Given the description of an element on the screen output the (x, y) to click on. 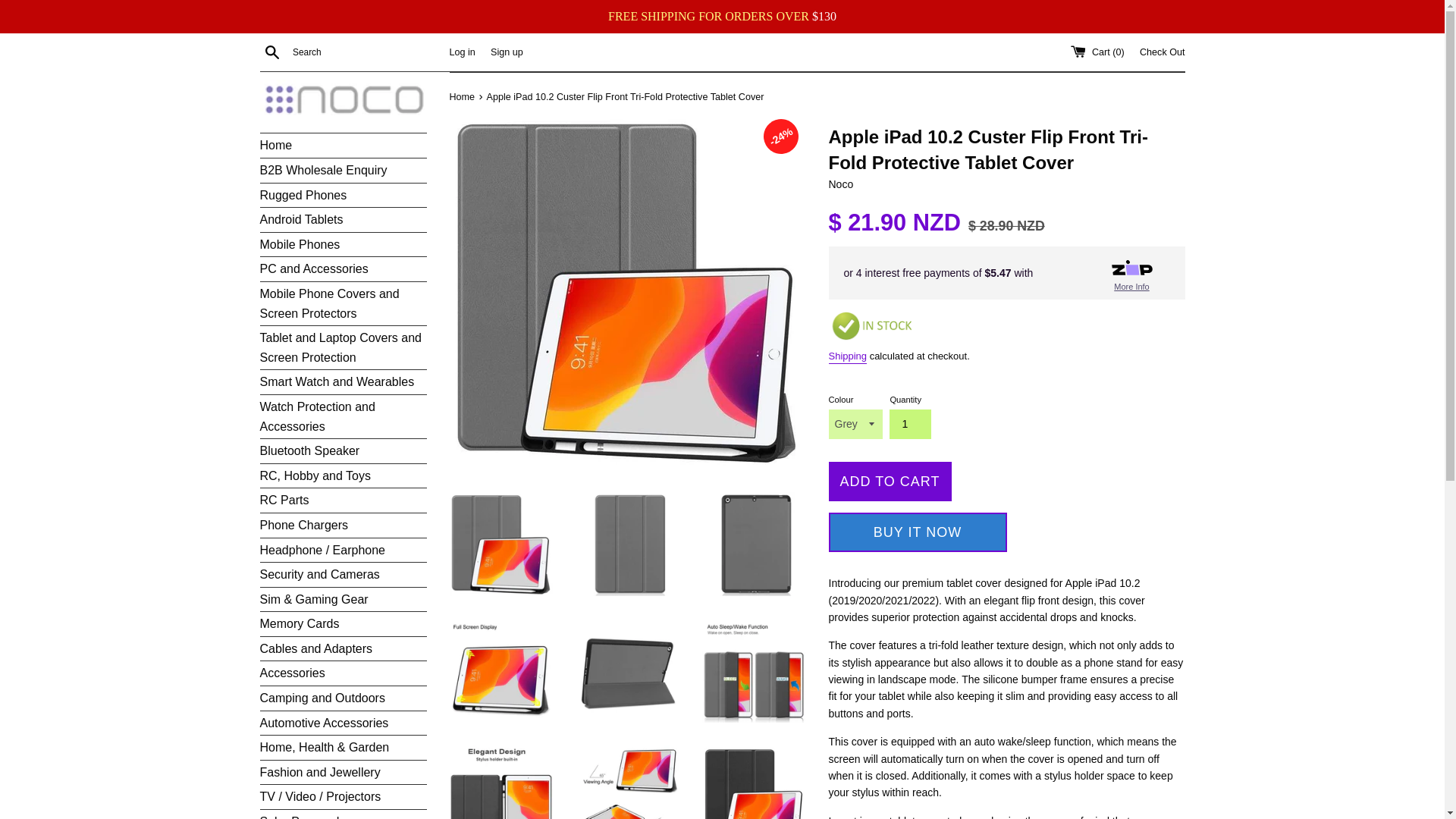
1 (910, 423)
Cables and Adapters (342, 648)
Camping and Outdoors (342, 698)
Watch Protection and Accessories (342, 416)
Accessories (342, 672)
Back to the frontpage (462, 96)
Android Tablets (342, 219)
Bluetooth Speaker (342, 450)
Log in (461, 51)
Rugged Phones (342, 195)
Phone Chargers (342, 525)
PC and Accessories (342, 269)
Fashion and Jewellery (342, 772)
Automotive Accessories (342, 723)
Home (342, 145)
